Given the description of an element on the screen output the (x, y) to click on. 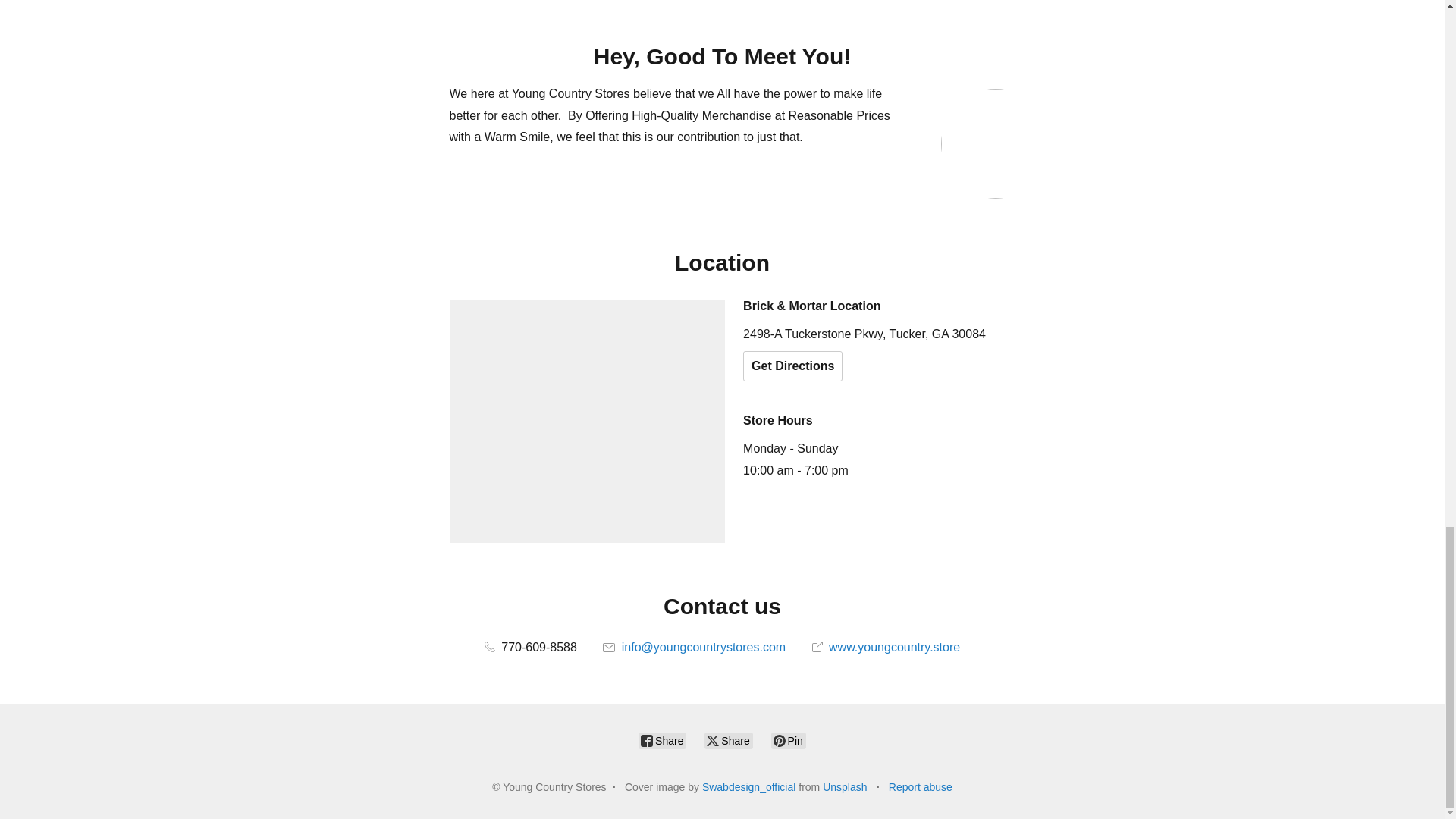
Share (728, 740)
770-609-8588 (530, 646)
Pin (788, 740)
www.youngcountry.store (886, 646)
Report abuse (920, 787)
Share (662, 740)
Unsplash (844, 787)
Get Directions (792, 366)
Location on map (586, 421)
